Given the description of an element on the screen output the (x, y) to click on. 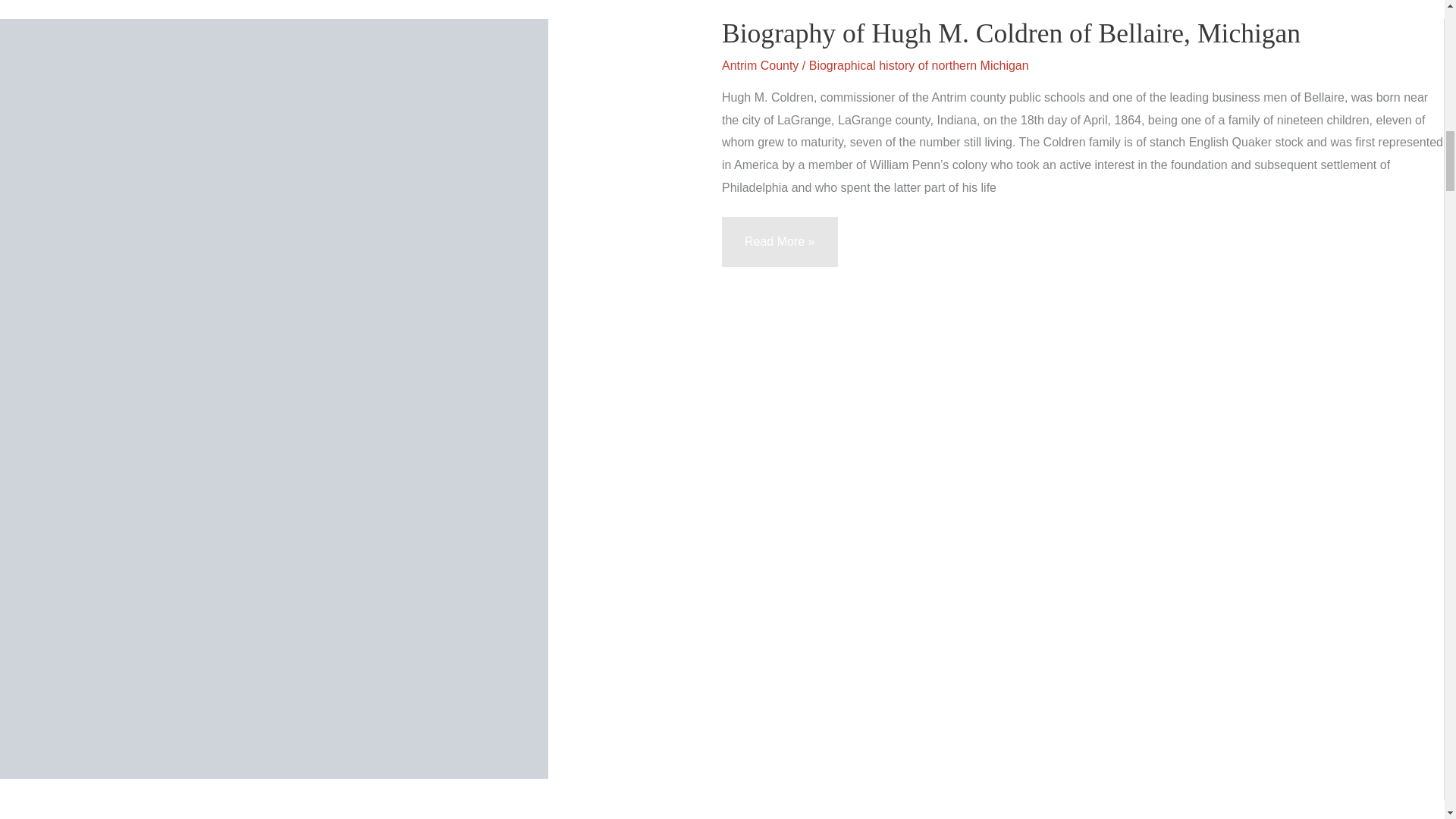
Antrim County (759, 65)
Biography of Hugh M. Coldren of Bellaire, Michigan (1011, 33)
Biographical history of northern Michigan (919, 65)
